Given the description of an element on the screen output the (x, y) to click on. 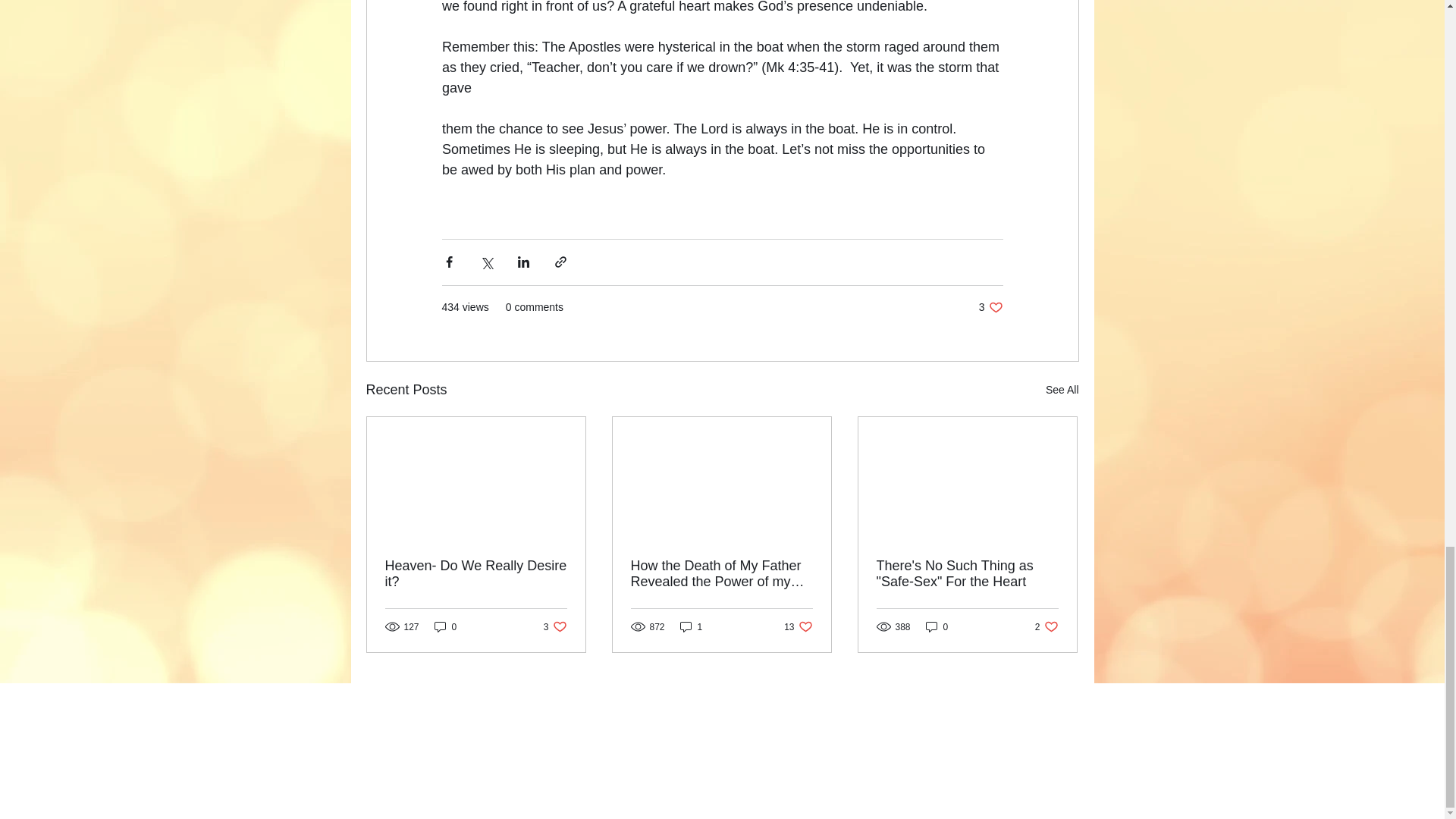
0 (445, 626)
0 (990, 307)
1 (937, 626)
See All (691, 626)
Heaven- Do We Really Desire it? (1061, 390)
